Given the description of an element on the screen output the (x, y) to click on. 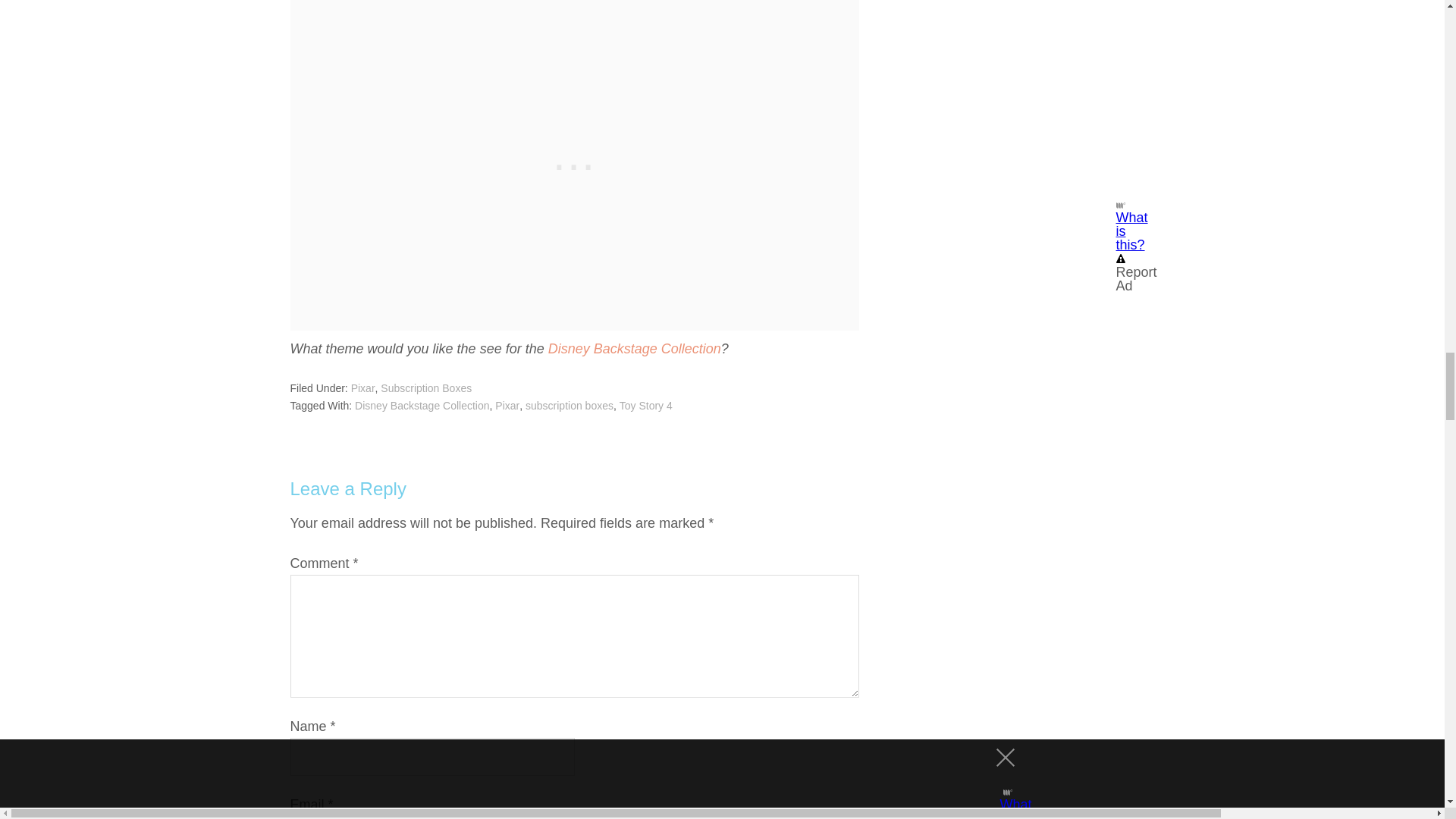
Toy Story 4 (646, 405)
Disney Backstage Collection (634, 348)
Disney Backstage Collection (422, 405)
subscription boxes (568, 405)
Subscription Boxes (425, 387)
Pixar (507, 405)
Pixar (362, 387)
